Given the description of an element on the screen output the (x, y) to click on. 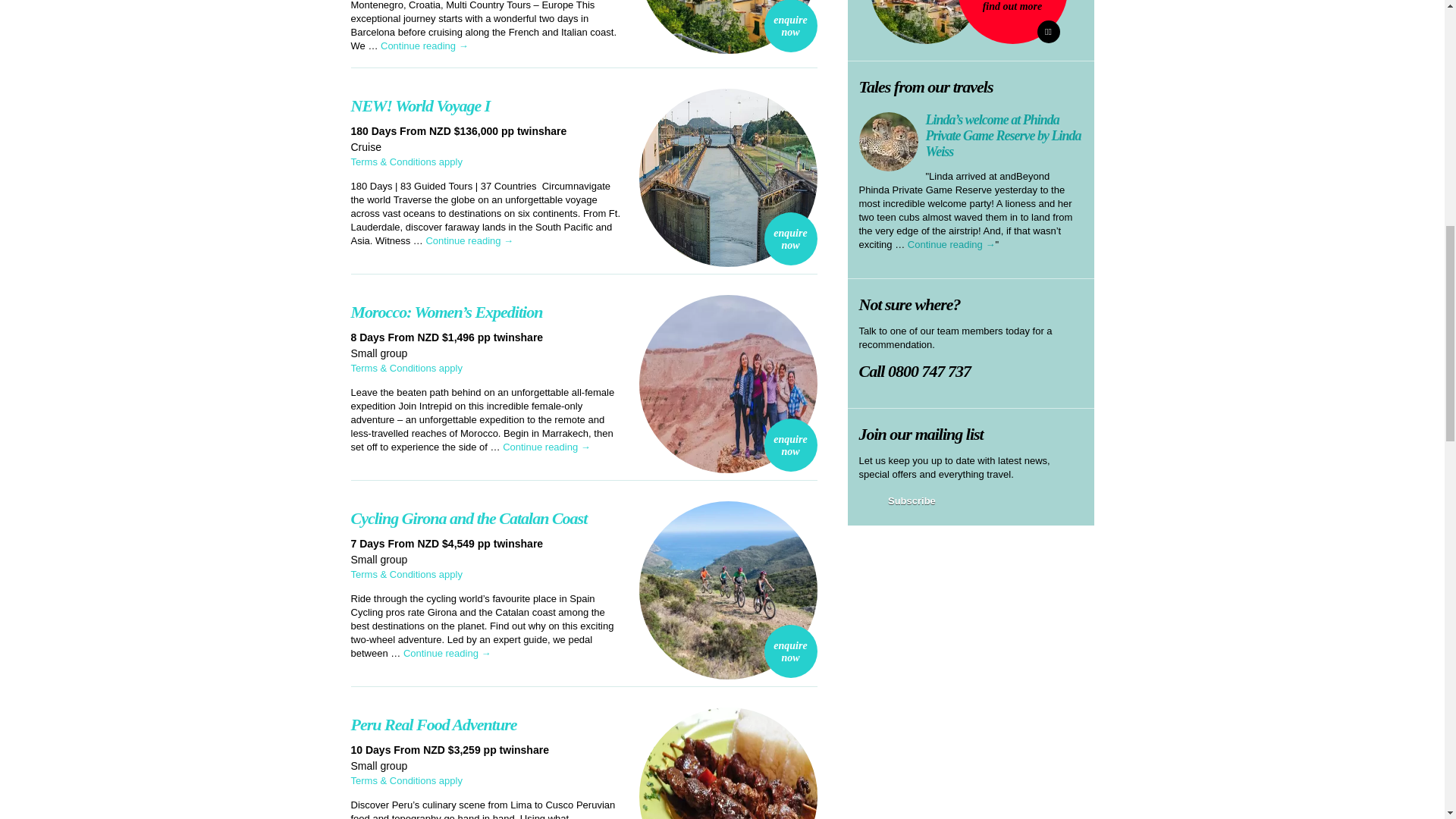
Find out more (1047, 31)
Preview (900, 501)
